Given the description of an element on the screen output the (x, y) to click on. 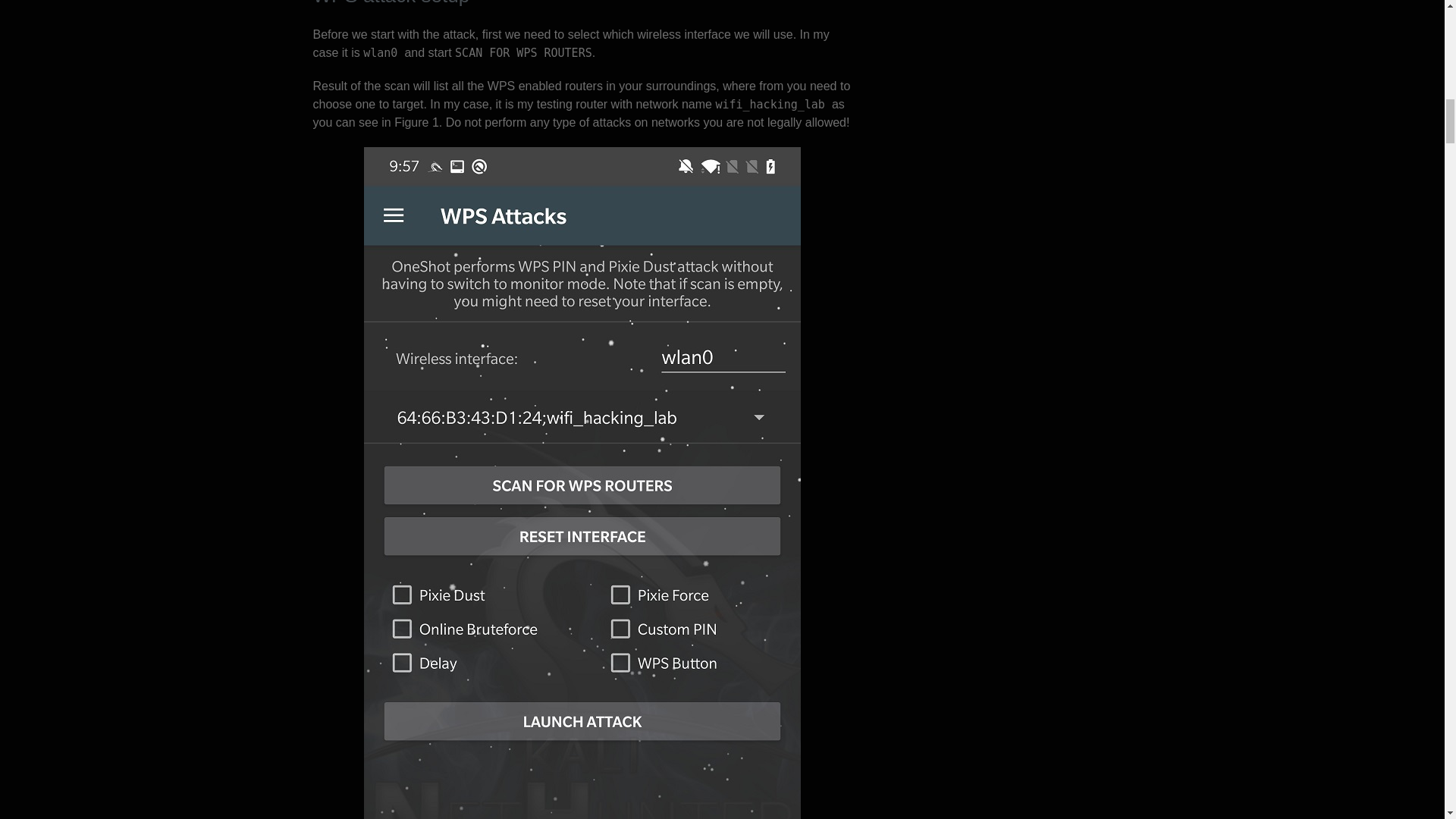
Advertisement (1002, 107)
